Given the description of an element on the screen output the (x, y) to click on. 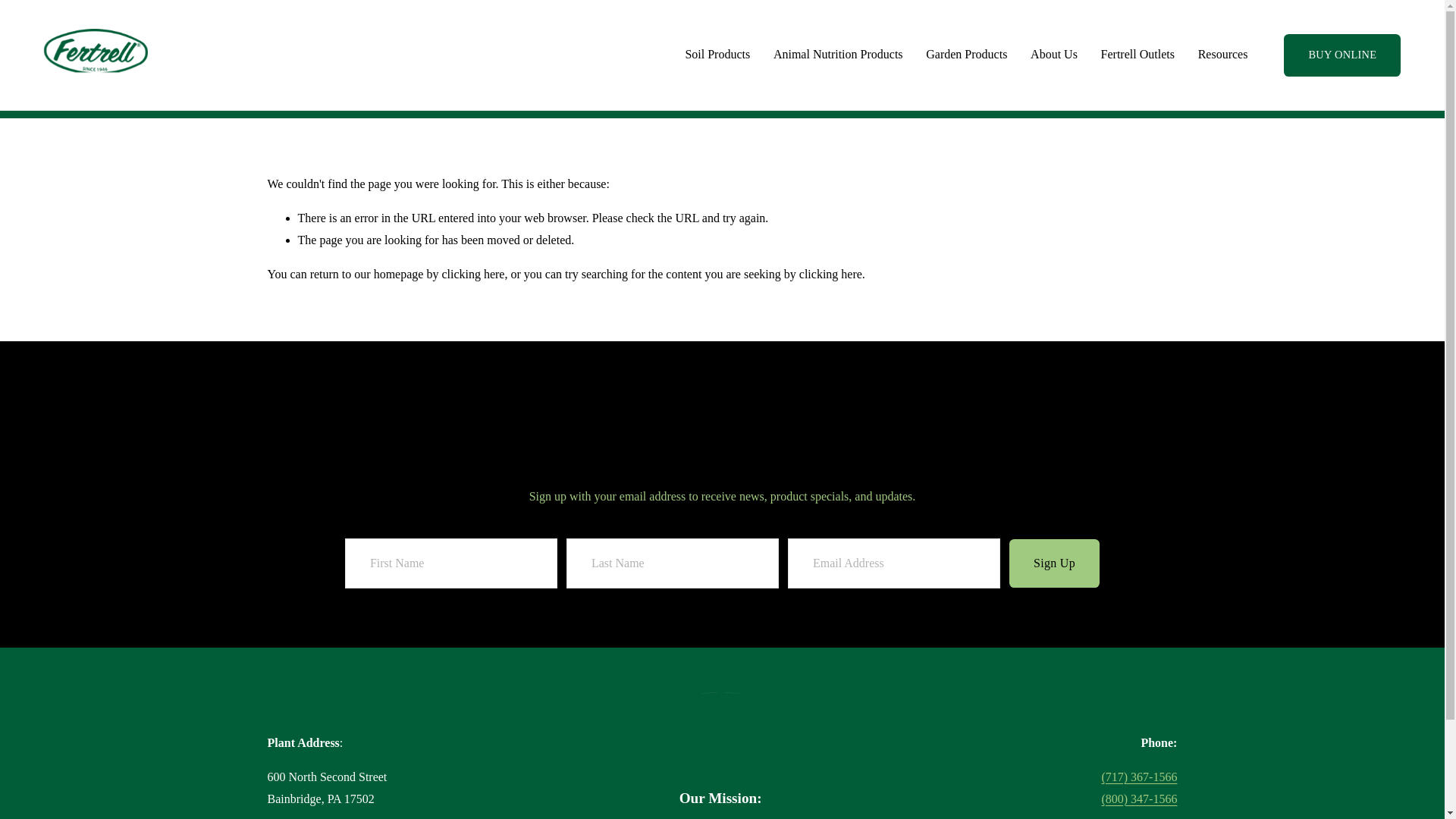
About Us (1053, 55)
Fertrell Outlets (1137, 55)
Garden Products (966, 55)
Resources (1222, 55)
Soil Products (716, 55)
Animal Nutrition Products (837, 55)
